Given the description of an element on the screen output the (x, y) to click on. 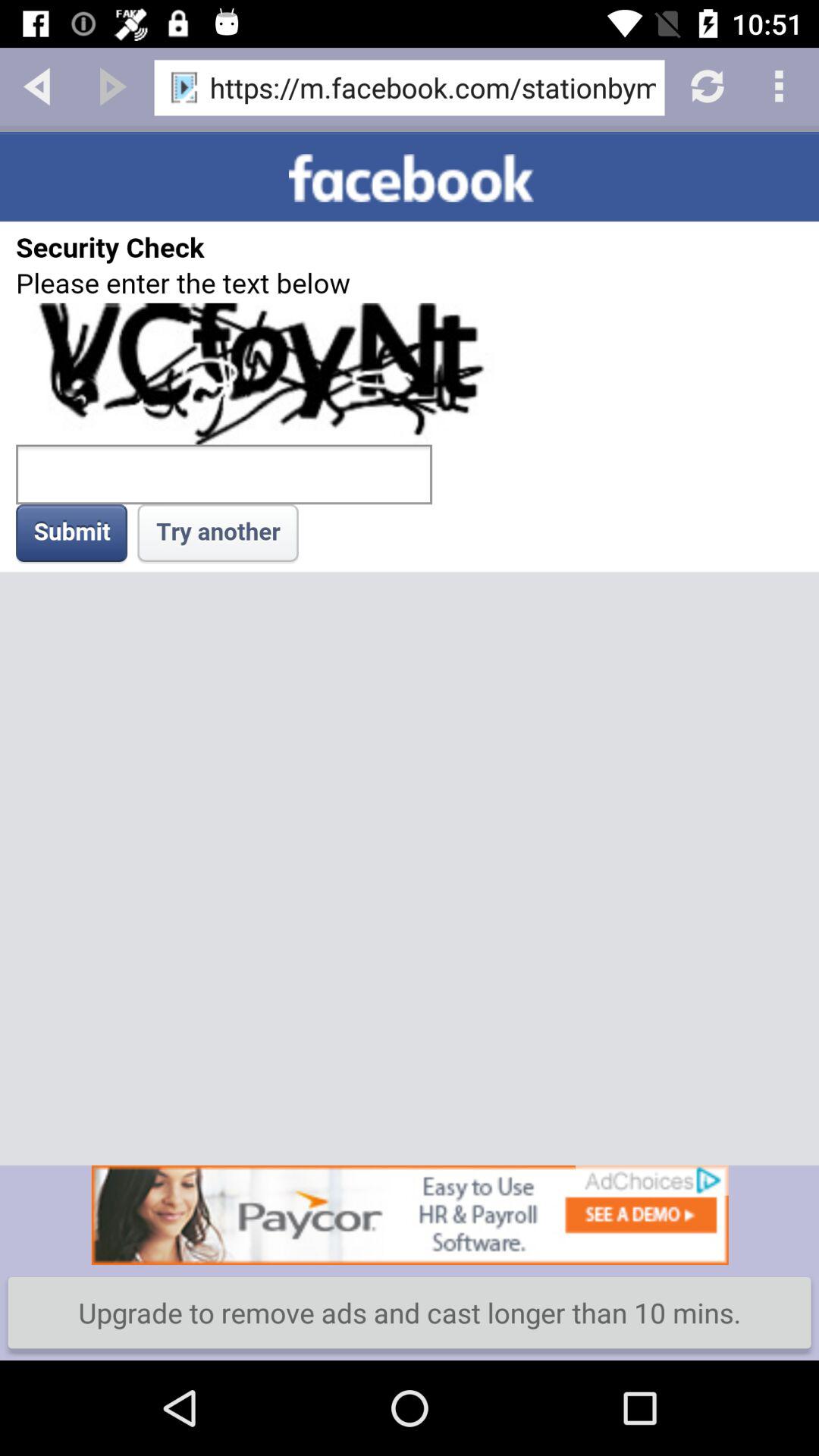
go to refersg (705, 85)
